Given the description of an element on the screen output the (x, y) to click on. 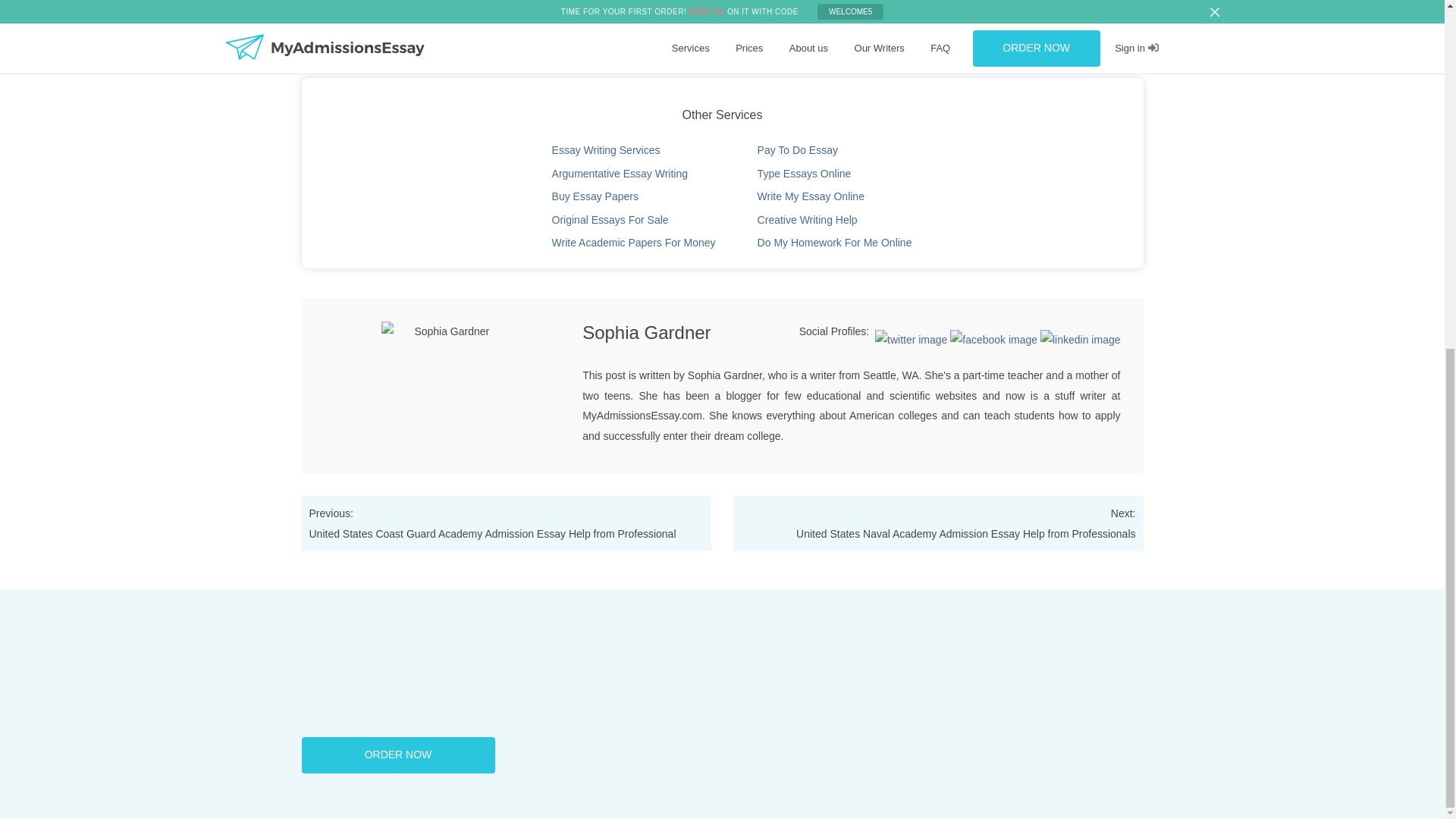
essay writing service (699, 44)
